Given the description of an element on the screen output the (x, y) to click on. 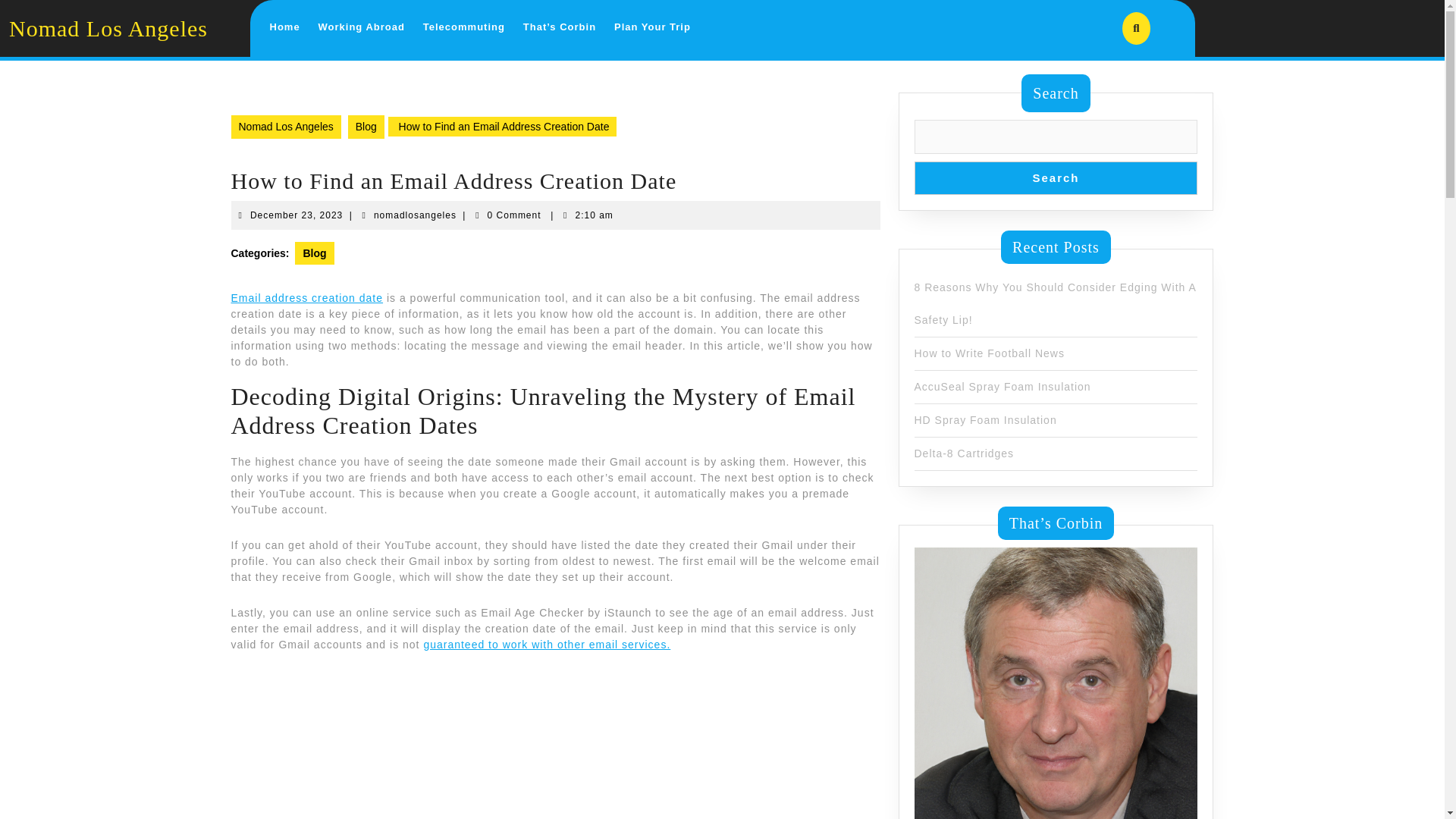
Telecommuting (463, 27)
Home (284, 27)
How to Write Football News (989, 353)
Nomad Los Angeles (108, 27)
HD Spray Foam Insulation (985, 419)
guaranteed to work with other email services. (546, 644)
Plan Your Trip (296, 214)
Blog (652, 27)
Working Abroad (314, 252)
Email address creation date (361, 27)
Nomad Los Angeles (306, 297)
AccuSeal Spray Foam Insulation (285, 126)
Blog (1002, 386)
